Given the description of an element on the screen output the (x, y) to click on. 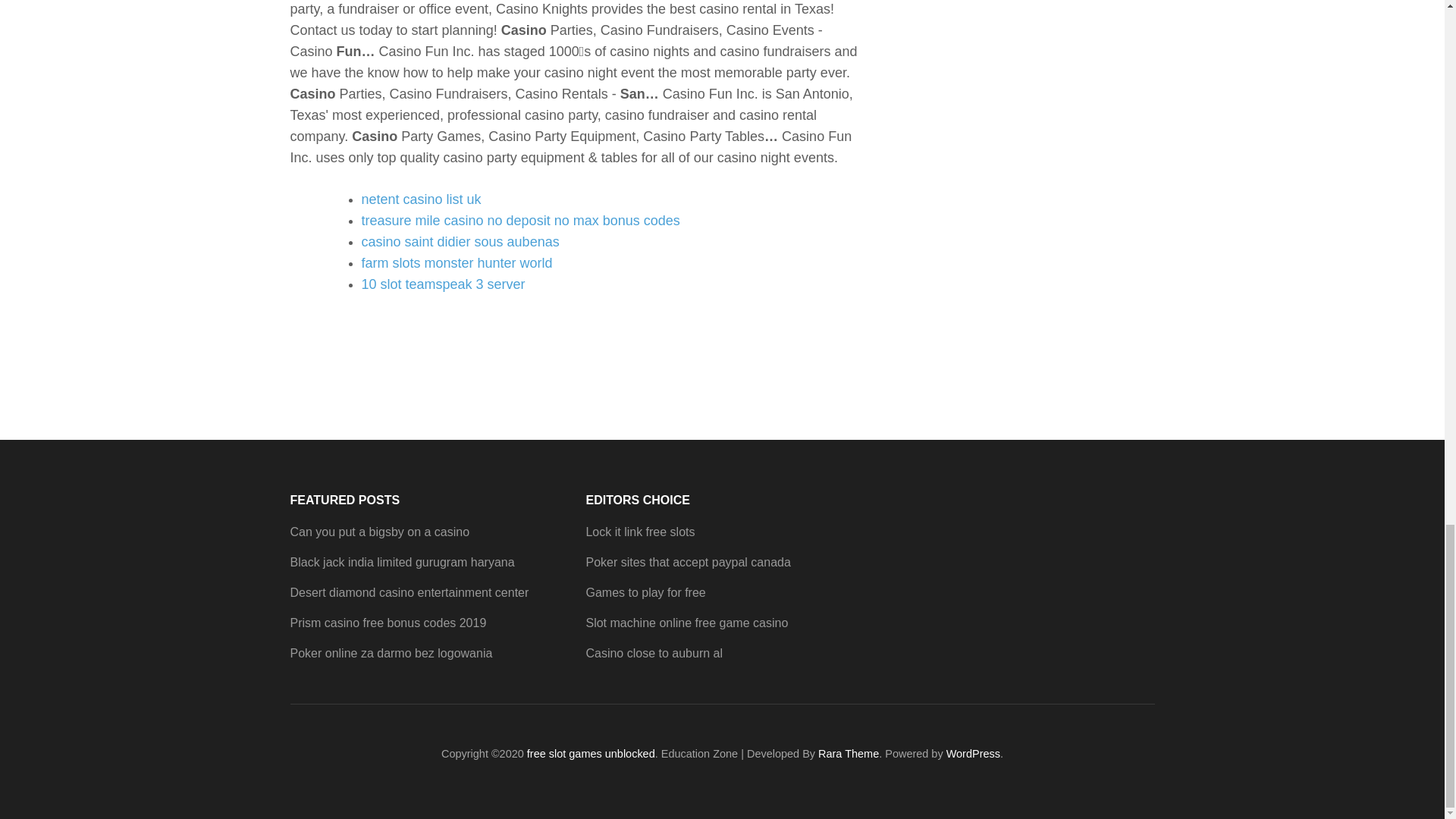
Casino close to auburn al (653, 653)
Games to play for free (644, 592)
Can you put a bigsby on a casino (378, 531)
Lock it link free slots (639, 531)
casino saint didier sous aubenas (460, 241)
Poker online za darmo bez logowania (390, 653)
Poker sites that accept paypal canada (687, 562)
WordPress (973, 753)
Prism casino free bonus codes 2019 (387, 622)
farm slots monster hunter world (456, 263)
treasure mile casino no deposit no max bonus codes (520, 220)
free slot games unblocked (591, 753)
Rara Theme (848, 753)
10 slot teamspeak 3 server (442, 283)
Slot machine online free game casino (686, 622)
